Given the description of an element on the screen output the (x, y) to click on. 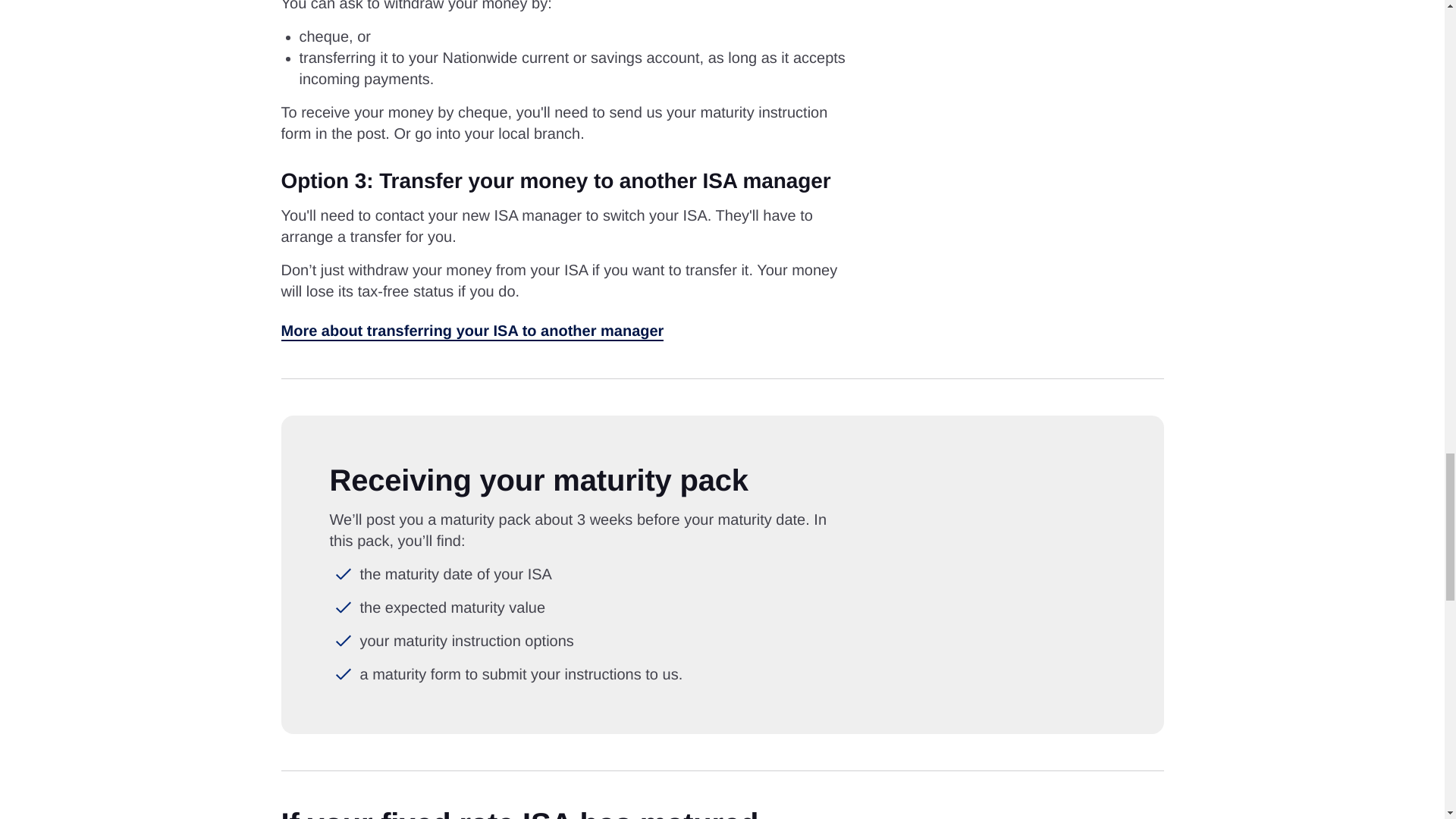
More about transferring your ISA to another manager (472, 331)
